Given the description of an element on the screen output the (x, y) to click on. 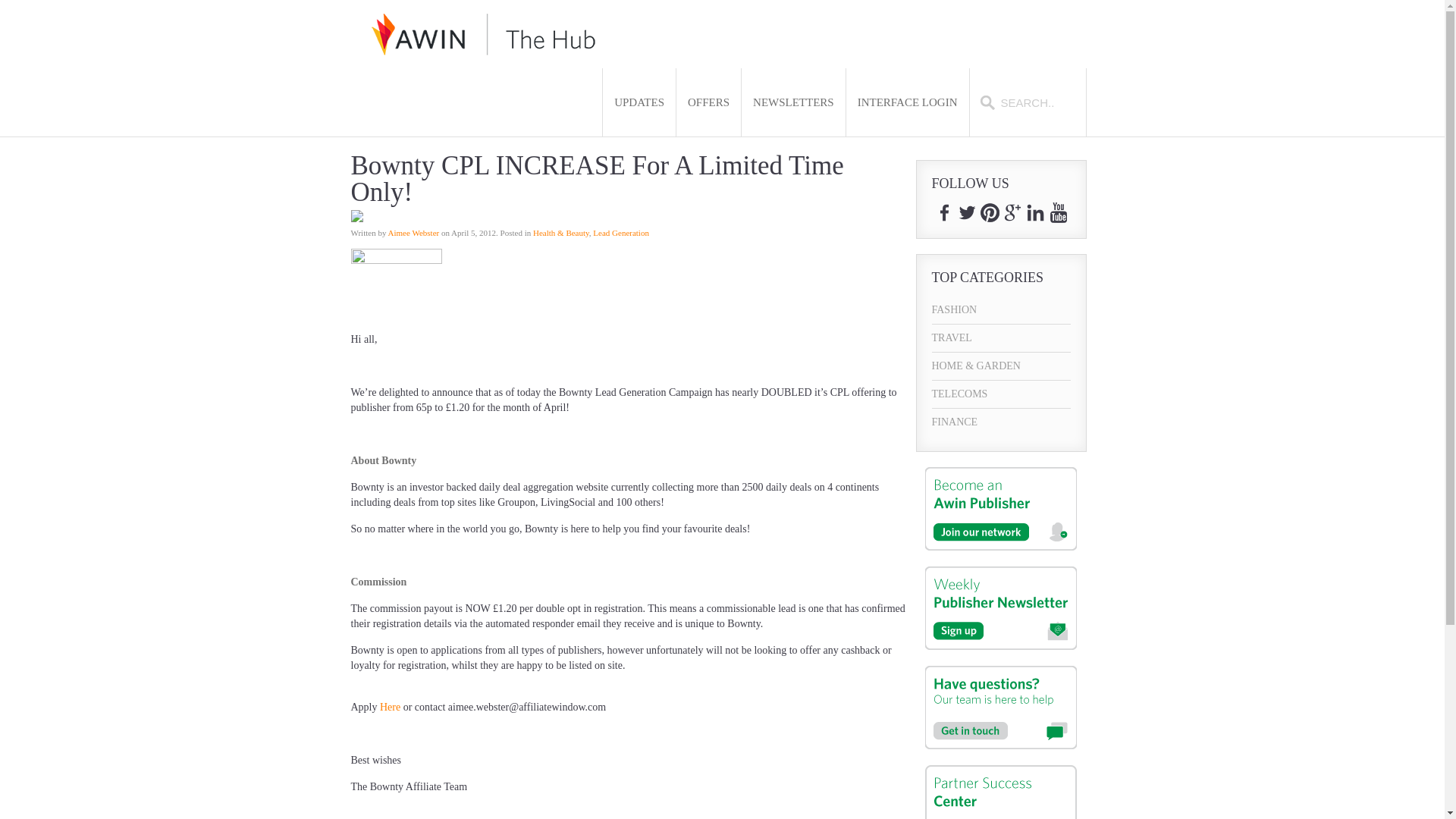
TELECOMS (1000, 393)
NEWSLETTERS (793, 102)
Aimee Webster (413, 232)
Lead Generation (620, 232)
Reset (3, 2)
OFFERS (708, 102)
Aimee Webster (413, 232)
INTERFACE LOGIN (907, 102)
Here (390, 706)
FINANCE (1000, 421)
